Given the description of an element on the screen output the (x, y) to click on. 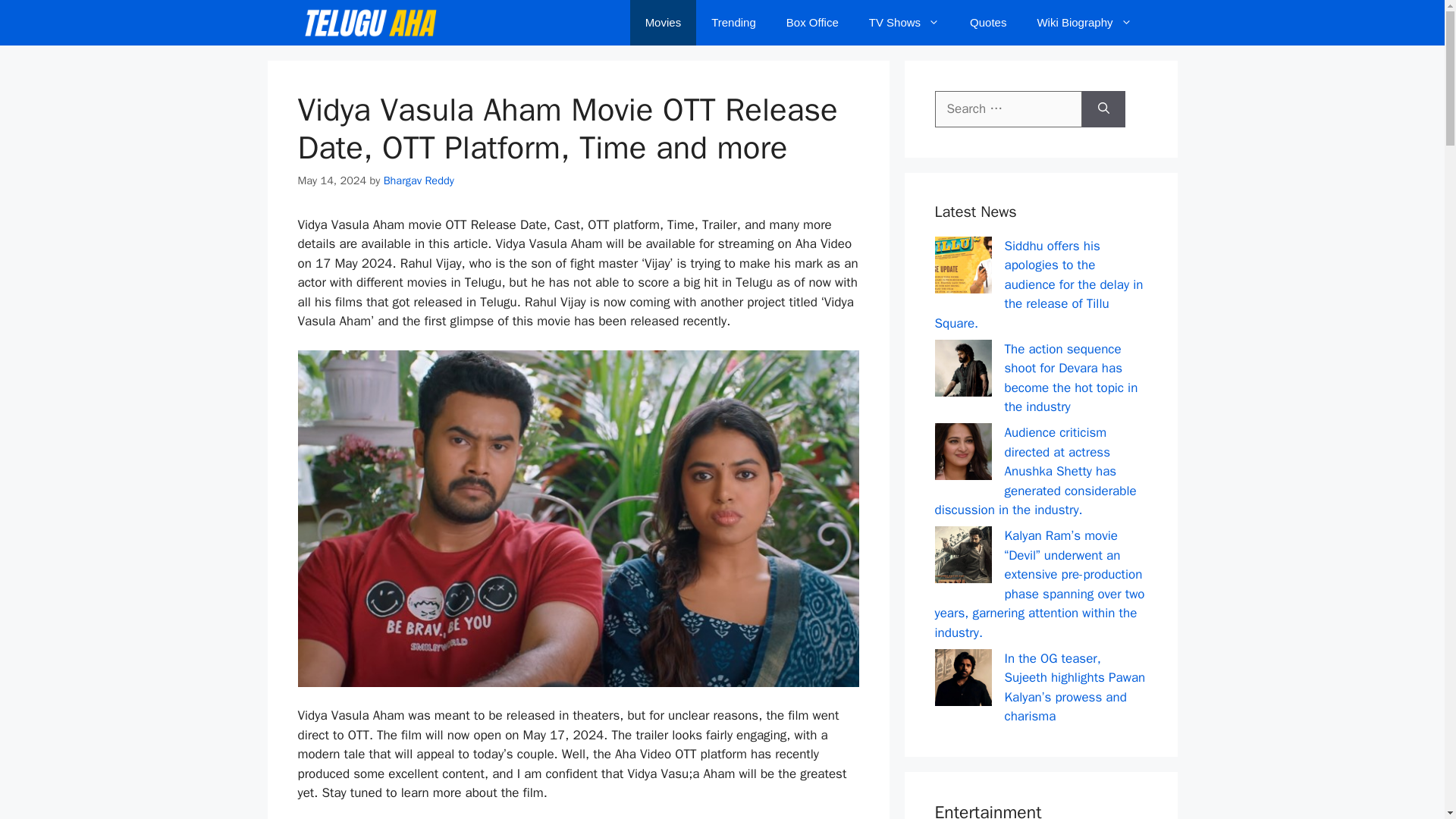
View all posts by Bhargav Reddy (419, 180)
TeluguAha (369, 22)
TV Shows (904, 22)
Movies (663, 22)
Box Office (812, 22)
Quotes (988, 22)
Bhargav Reddy (419, 180)
Wiki Biography (1084, 22)
Trending (733, 22)
